Given the description of an element on the screen output the (x, y) to click on. 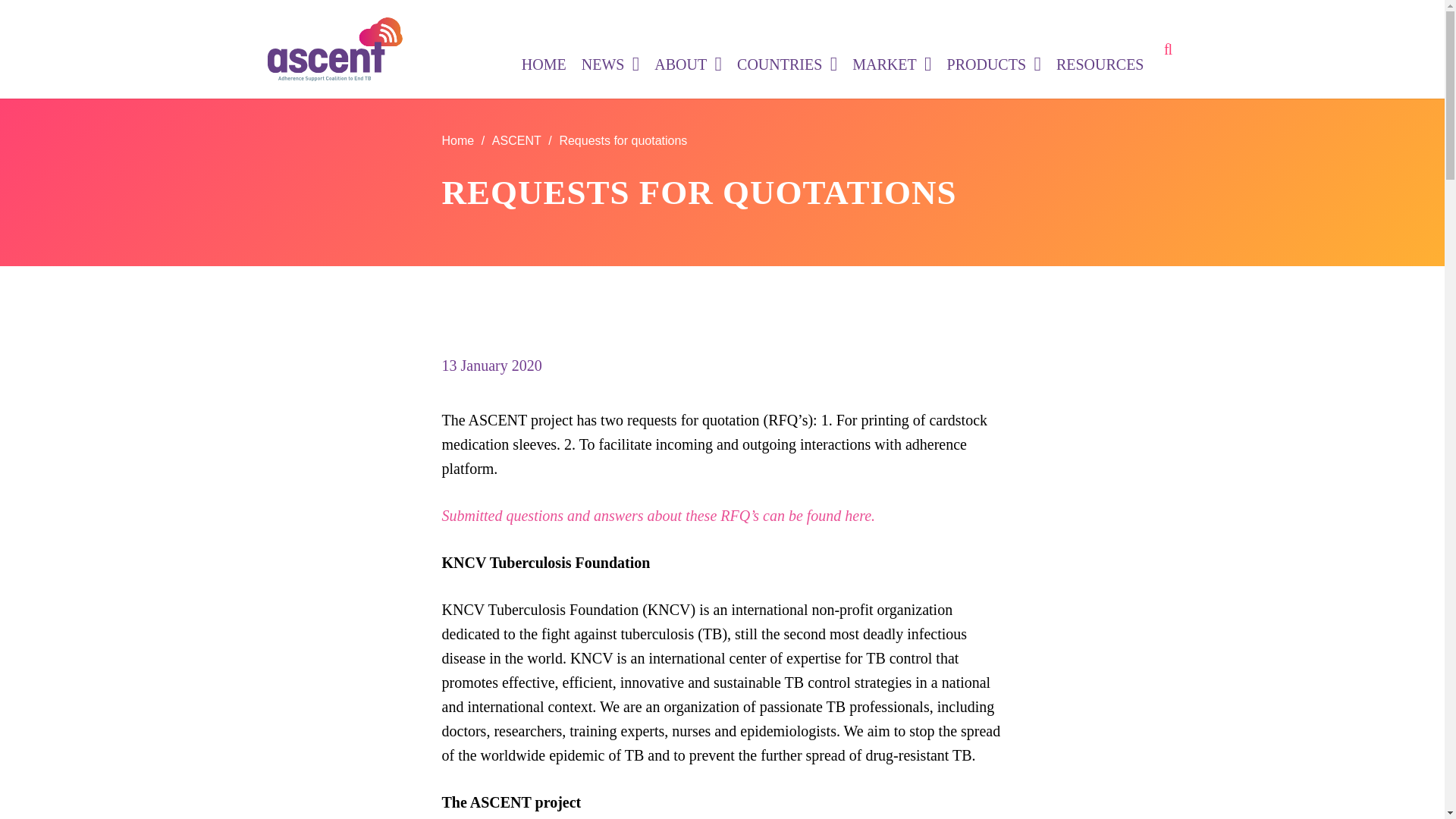
MARKET (891, 64)
PRODUCTS (993, 64)
ABOUT (687, 64)
COUNTRIES (786, 64)
HOME (543, 64)
RESOURCES (1099, 64)
NEWS (610, 64)
